Given the description of an element on the screen output the (x, y) to click on. 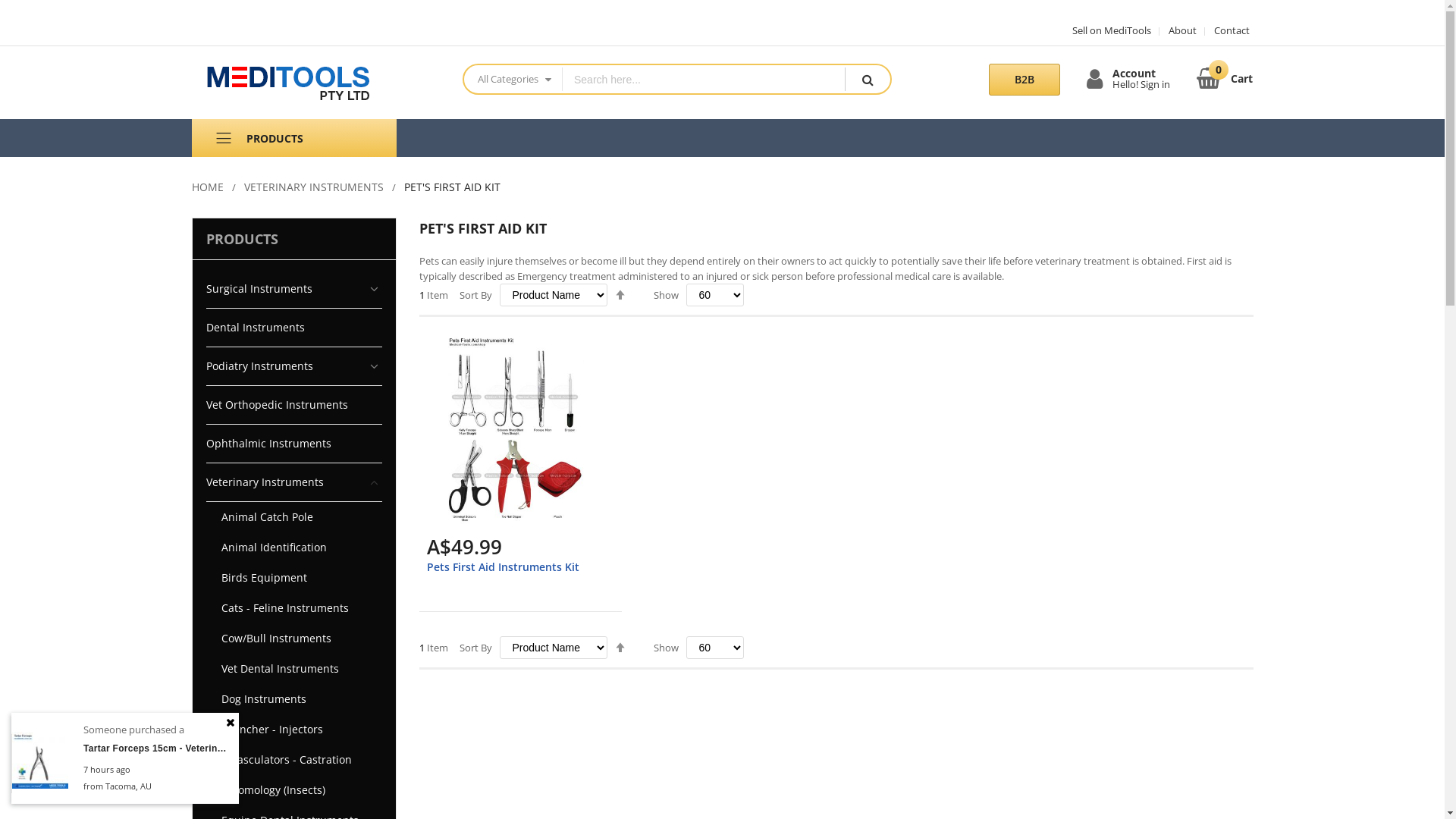
Dental Instruments Element type: text (294, 327)
Search Element type: text (867, 79)
HOME Element type: text (206, 186)
MediTools Website Element type: hover (314, 82)
Cow/Bull Instruments Element type: text (294, 638)
Surgical Instruments Element type: text (294, 288)
Vet Dental Instruments Element type: text (294, 668)
Ophthalmic Instruments Element type: text (294, 443)
Animal Identification Element type: text (294, 547)
Contact Element type: text (1225, 30)
VETERINARY INSTRUMENTS Element type: text (313, 186)
B2B Element type: text (1024, 79)
About Element type: text (1176, 30)
Emasculators - Castration Element type: text (294, 759)
Sell on MediTools Element type: text (1110, 30)
Drencher - Injectors Element type: text (294, 729)
Veterinary Instruments Element type: text (294, 482)
Podiatry Instruments Element type: text (294, 366)
Set Descending Direction Element type: text (619, 295)
Birds Equipment Element type: text (294, 577)
Cart Element type: text (1224, 76)
Cats - Feline Instruments Element type: text (294, 608)
Entomology (Insects) Element type: text (294, 790)
Animal Catch Pole Element type: text (294, 517)
Dog Instruments Element type: text (294, 699)
Pets First Aid Instruments Kit Element type: text (502, 566)
Vet Orthopedic Instruments Element type: text (294, 404)
MediTools Website Element type: hover (315, 82)
Set Descending Direction Element type: text (619, 647)
